Given the description of an element on the screen output the (x, y) to click on. 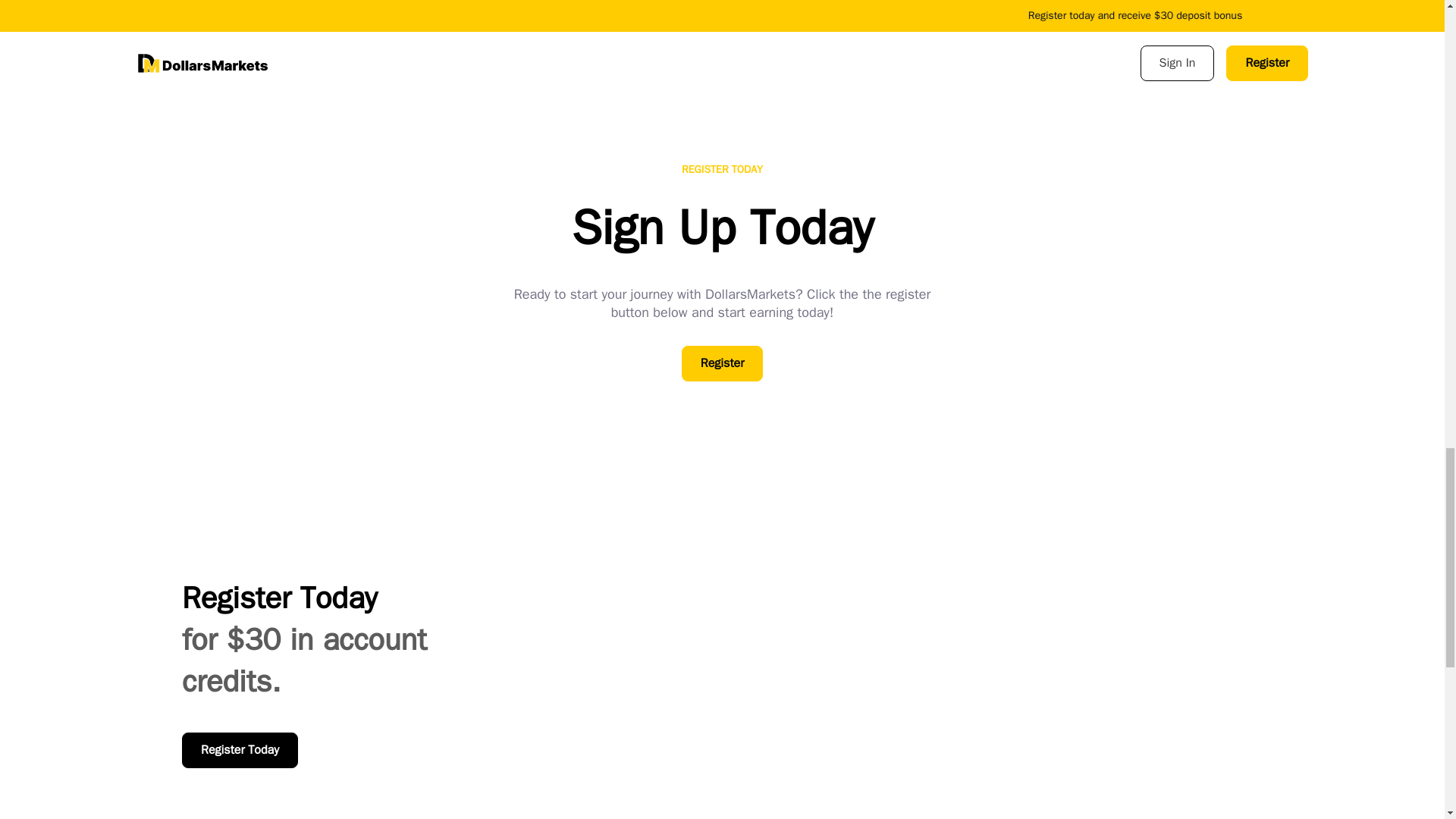
Register (721, 363)
Register Today (240, 750)
